Given the description of an element on the screen output the (x, y) to click on. 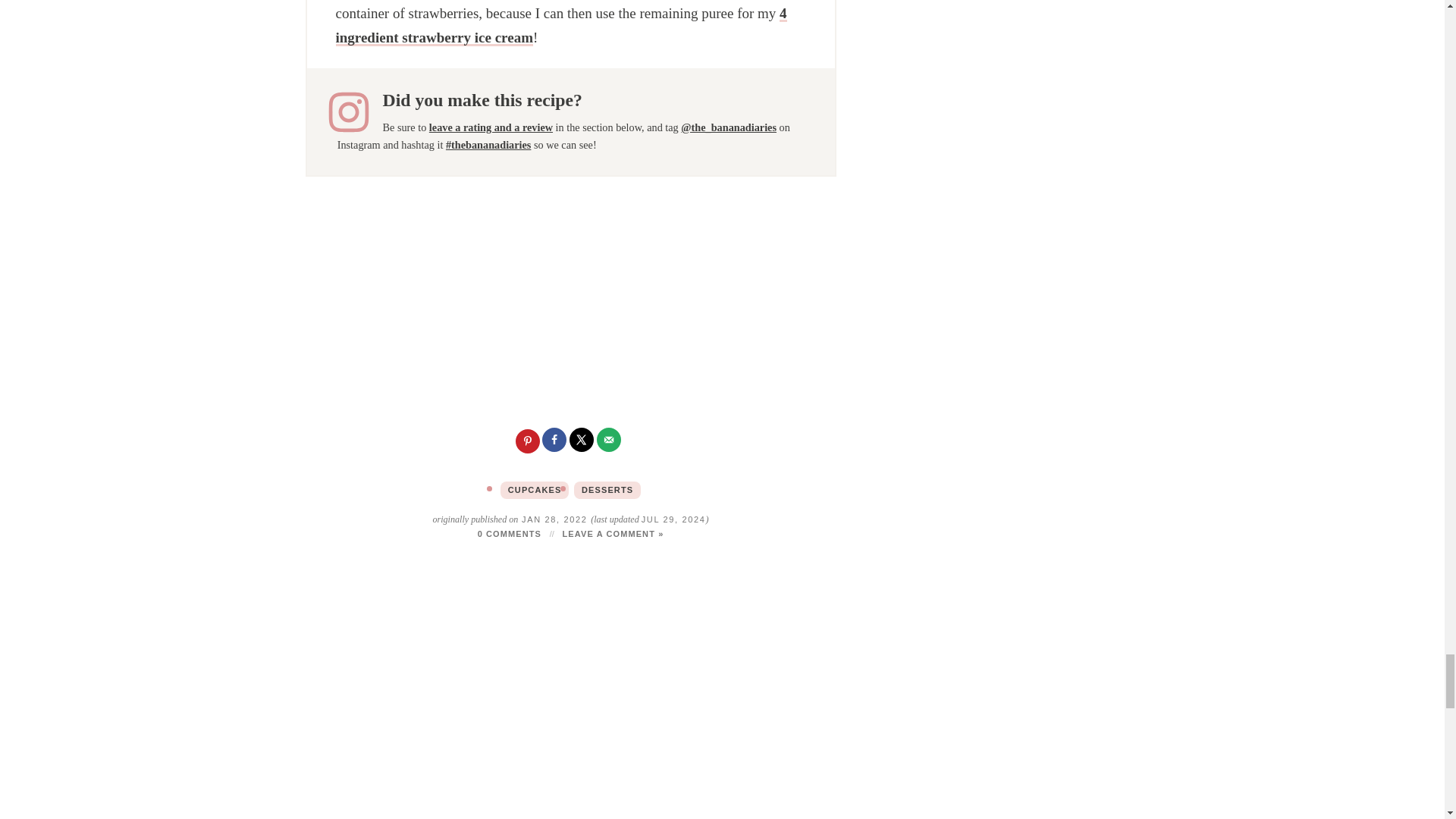
Send over email (610, 441)
Share on Facebook (555, 441)
Save to Pinterest (527, 441)
Share on X (582, 441)
